Given the description of an element on the screen output the (x, y) to click on. 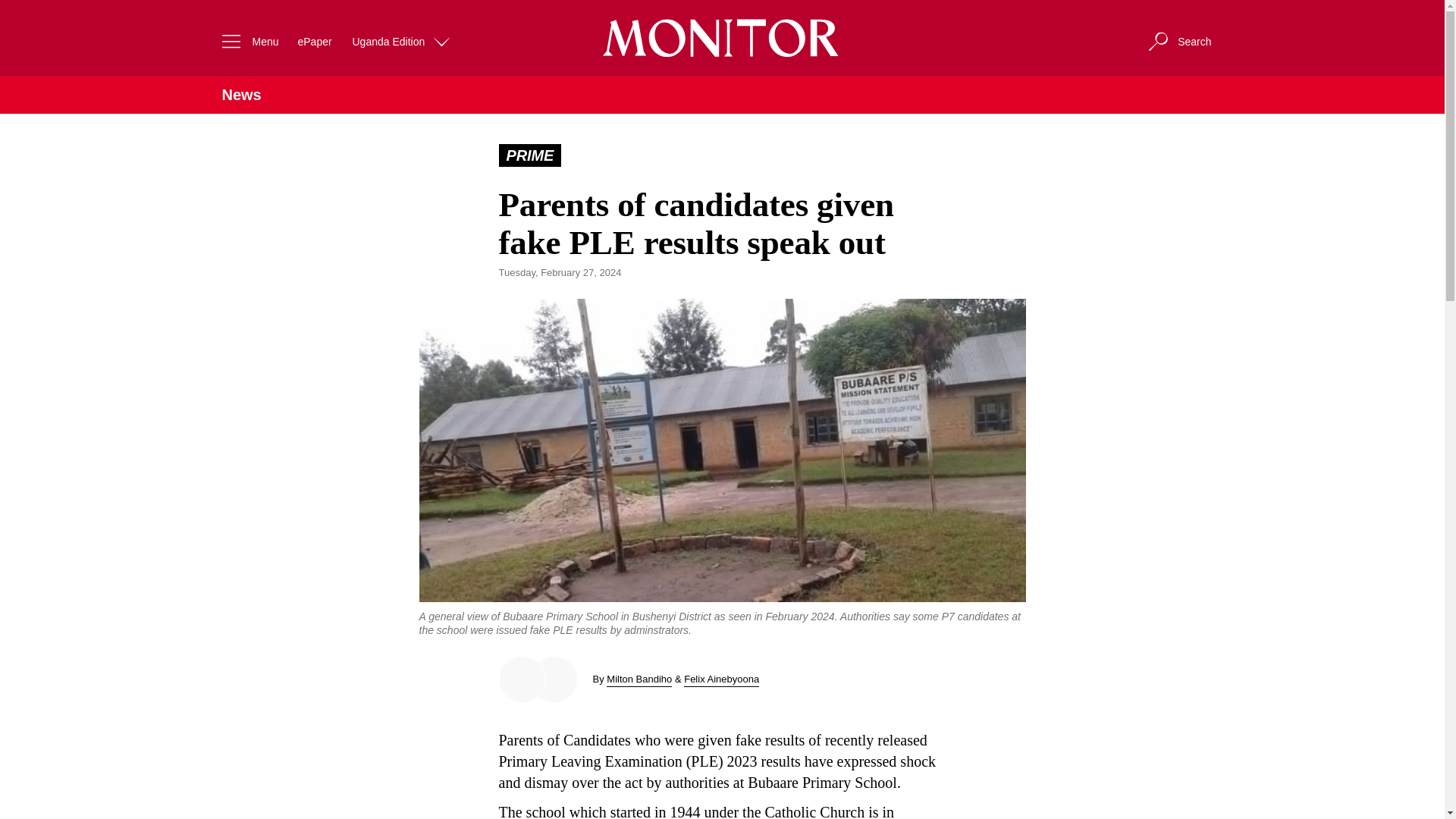
News (240, 94)
ePaper (314, 41)
Search (1178, 41)
Uganda Edition (401, 41)
Menu (246, 41)
